Given the description of an element on the screen output the (x, y) to click on. 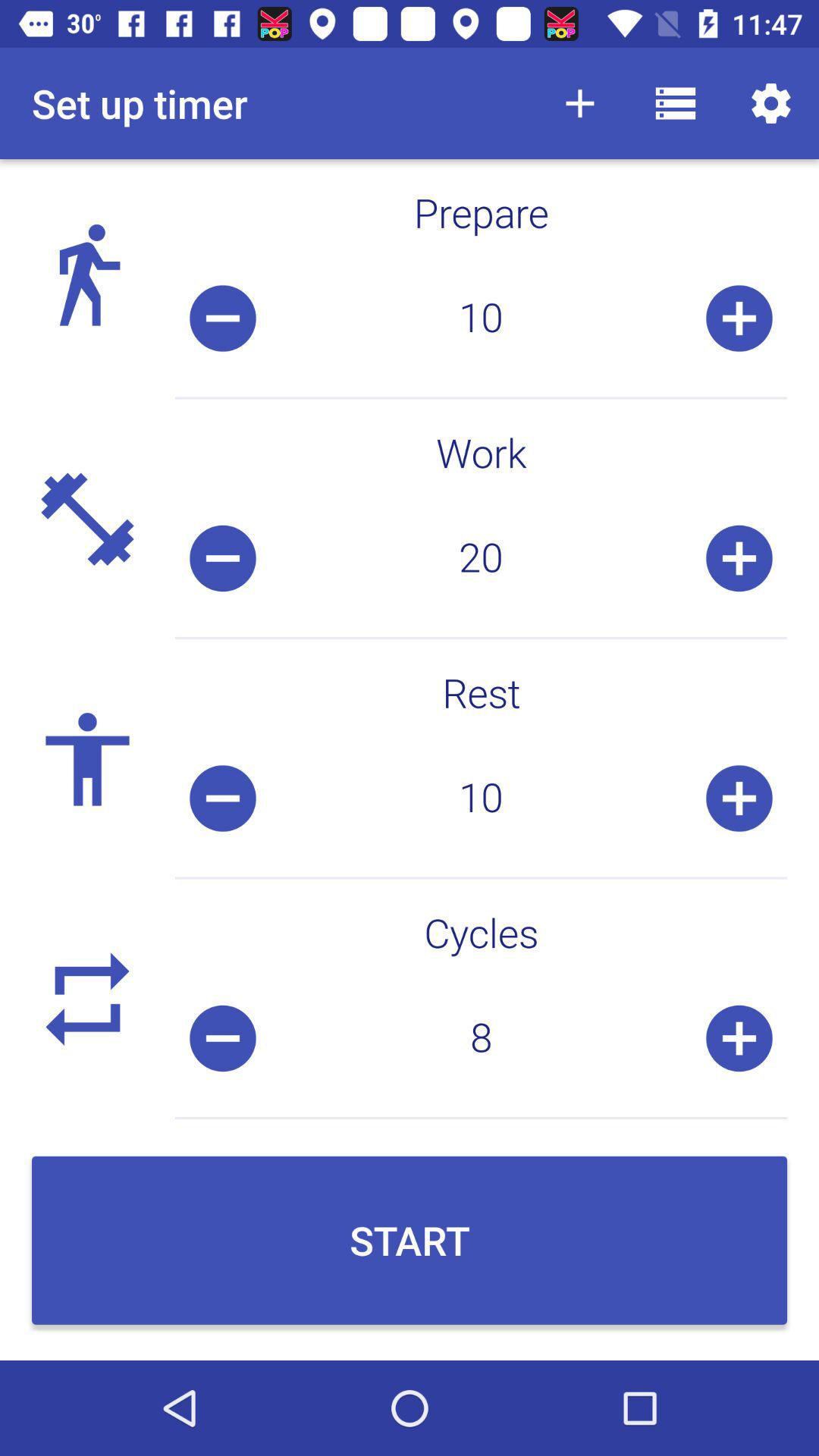
launch icon above start item (480, 1038)
